Given the description of an element on the screen output the (x, y) to click on. 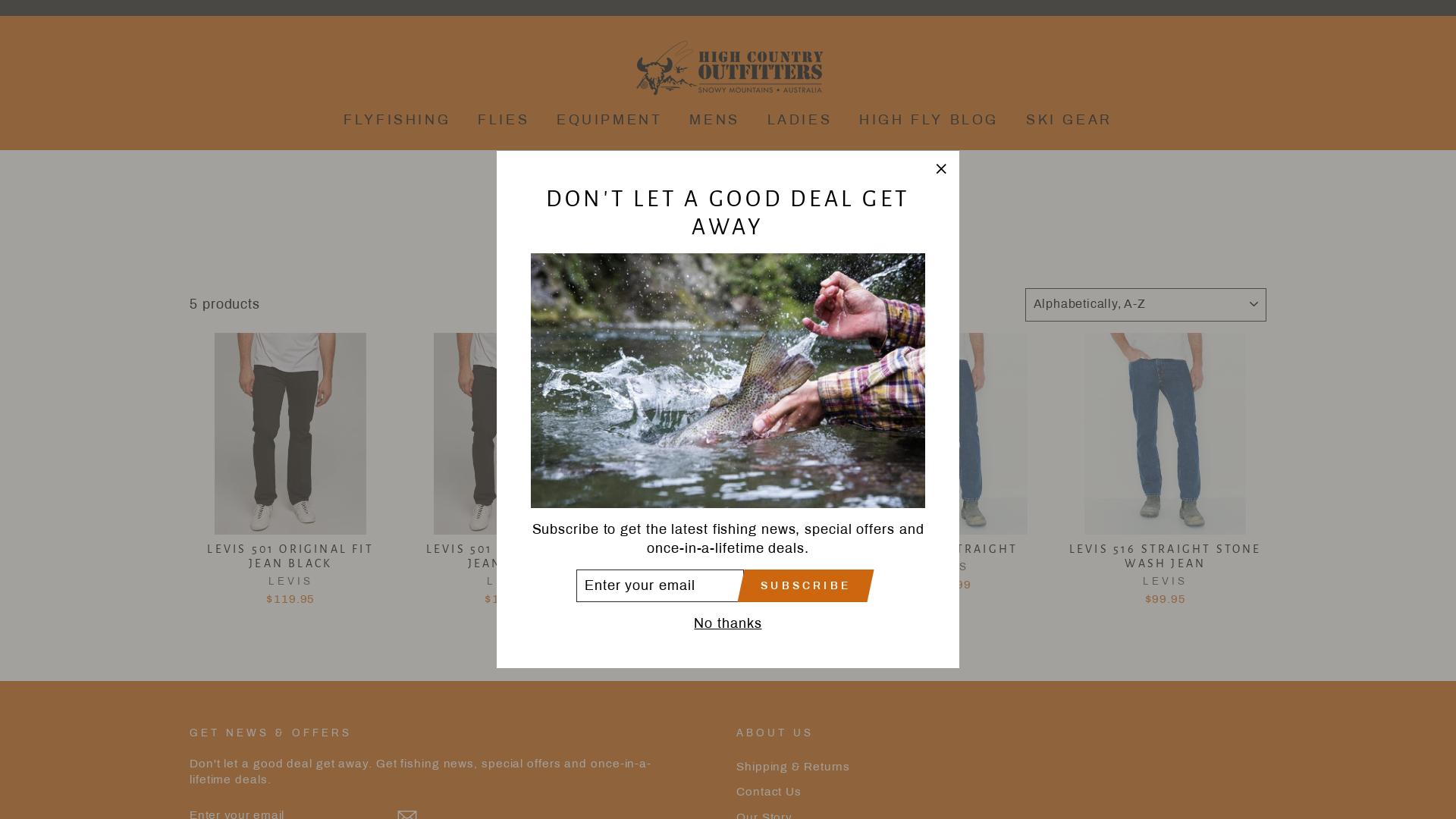
Home Element type: text (723, 195)
MENS Element type: text (713, 119)
LEVIS 501 ORIGINAL FIT JEAN BLACK
LEVIS
$129.99 Element type: text (508, 471)
LEVIS 516 STRAIGHT STONE WASH JEAN
LEVIS
$99.95 Element type: text (1165, 471)
HIGH FLY BLOG Element type: text (928, 119)
"Close (esc)" Element type: text (940, 168)
SKI GEAR Element type: text (1068, 119)
Shipping & Returns Element type: text (793, 767)
SUBSCRIBE Element type: text (805, 585)
SEARCH Element type: text (189, 68)
LEVIS 514 STRAIGHT LEG JEAN AMA RINSEY
LEVIS
$119.95 Element type: text (727, 471)
LOG IN Element type: text (1243, 68)
CART Element type: text (1266, 68)
FLYFISHING Element type: text (396, 119)
EQUIPMENT Element type: text (609, 119)
No thanks Element type: text (727, 623)
LADIES Element type: text (800, 119)
LEVIS 501 ORIGINAL FIT JEAN BLACK
LEVIS
$119.95 Element type: text (290, 471)
Skip to content Element type: text (0, 0)
FLIES Element type: text (503, 119)
LEVIS 516 STRAIGHT
LEVIS
$109.99 Element type: text (946, 464)
Contact Us Element type: text (768, 792)
